Given the description of an element on the screen output the (x, y) to click on. 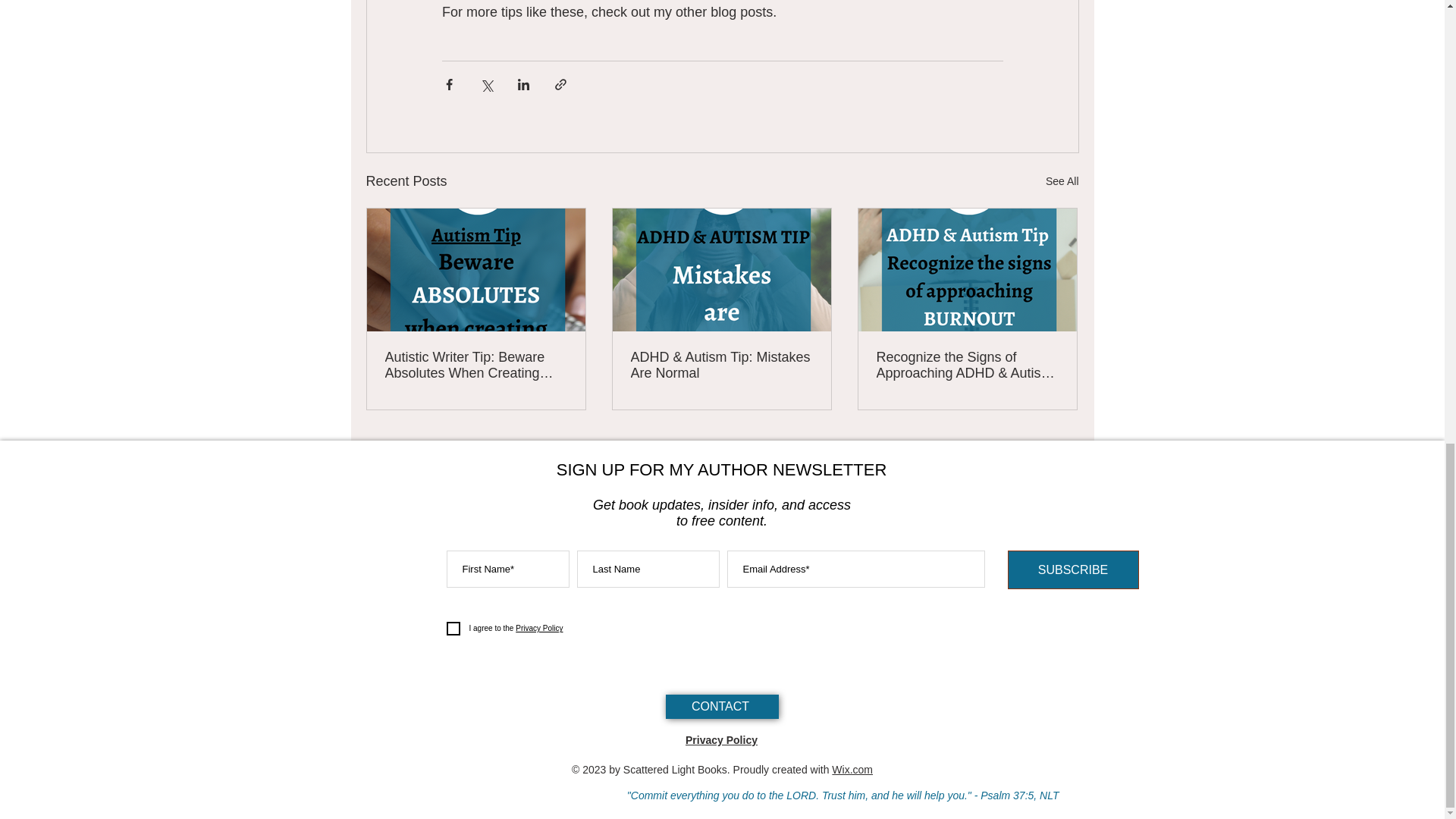
Wix.com (851, 769)
Privacy Policy (721, 739)
See All (1061, 181)
CONTACT (721, 706)
SUBSCRIBE (1072, 569)
Privacy Policy (537, 628)
